Given the description of an element on the screen output the (x, y) to click on. 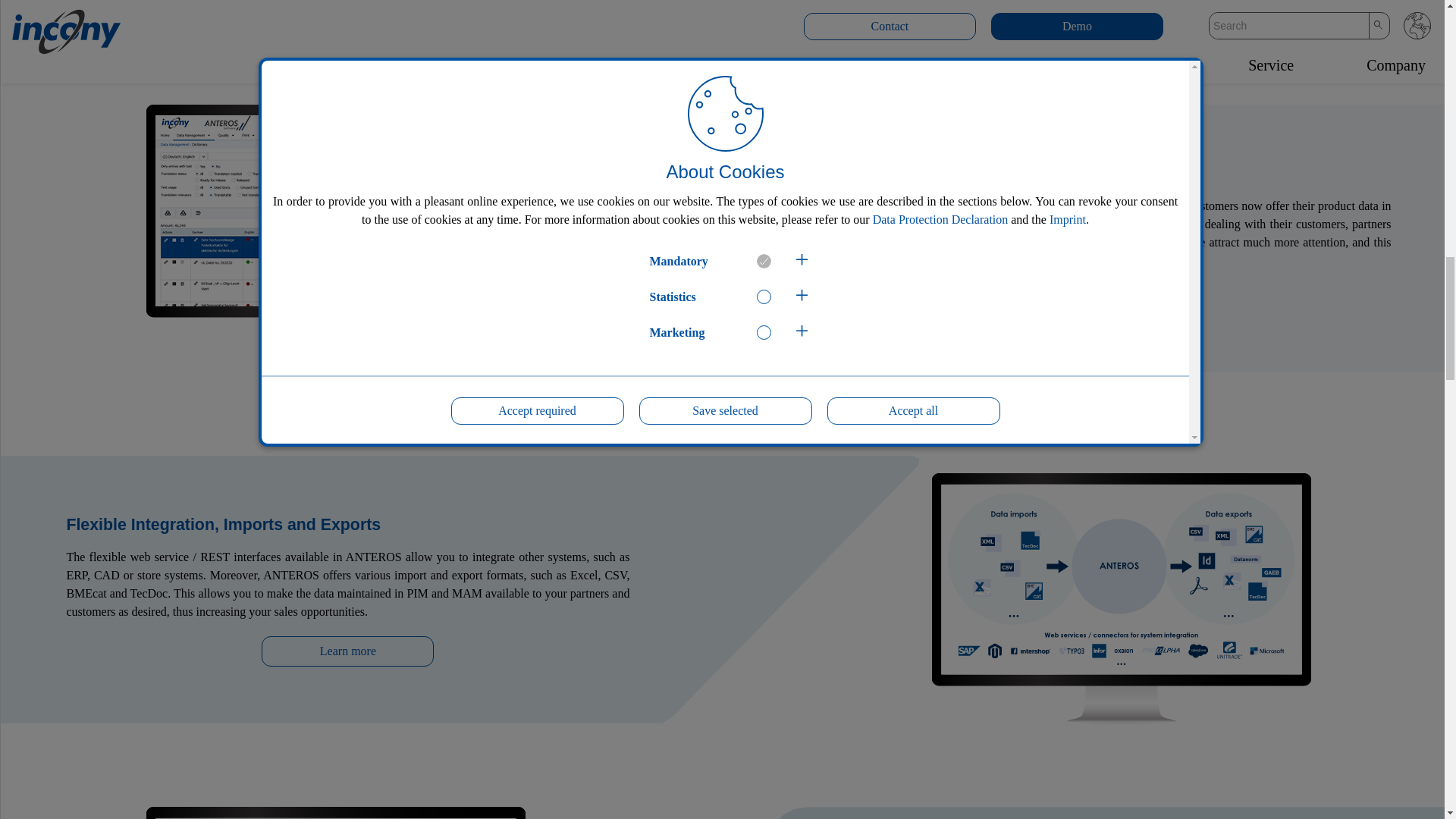
Learn more (1109, 300)
Learn more (347, 651)
